Given the description of an element on the screen output the (x, y) to click on. 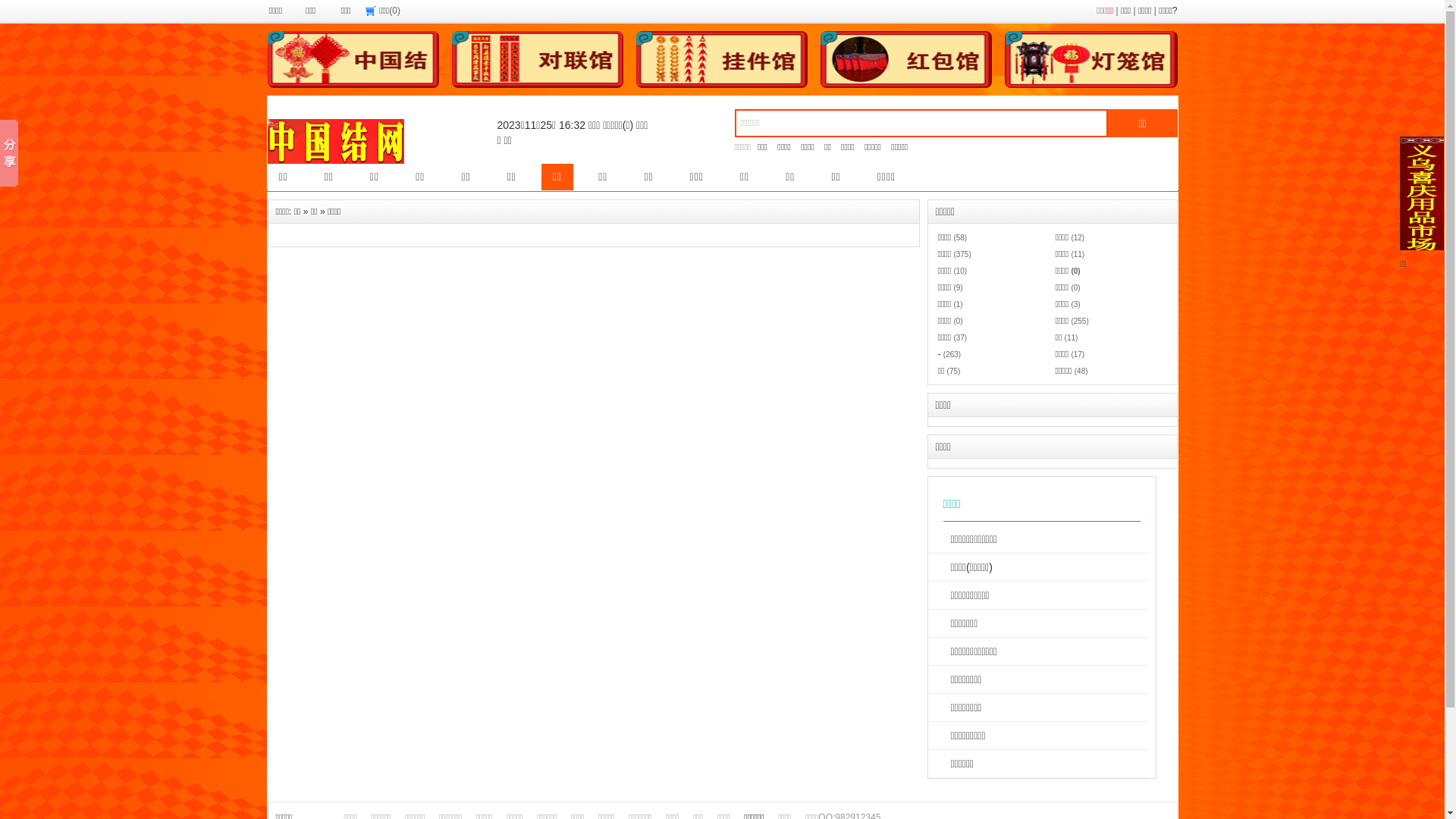
- Element type: text (938, 353)
